Given the description of an element on the screen output the (x, y) to click on. 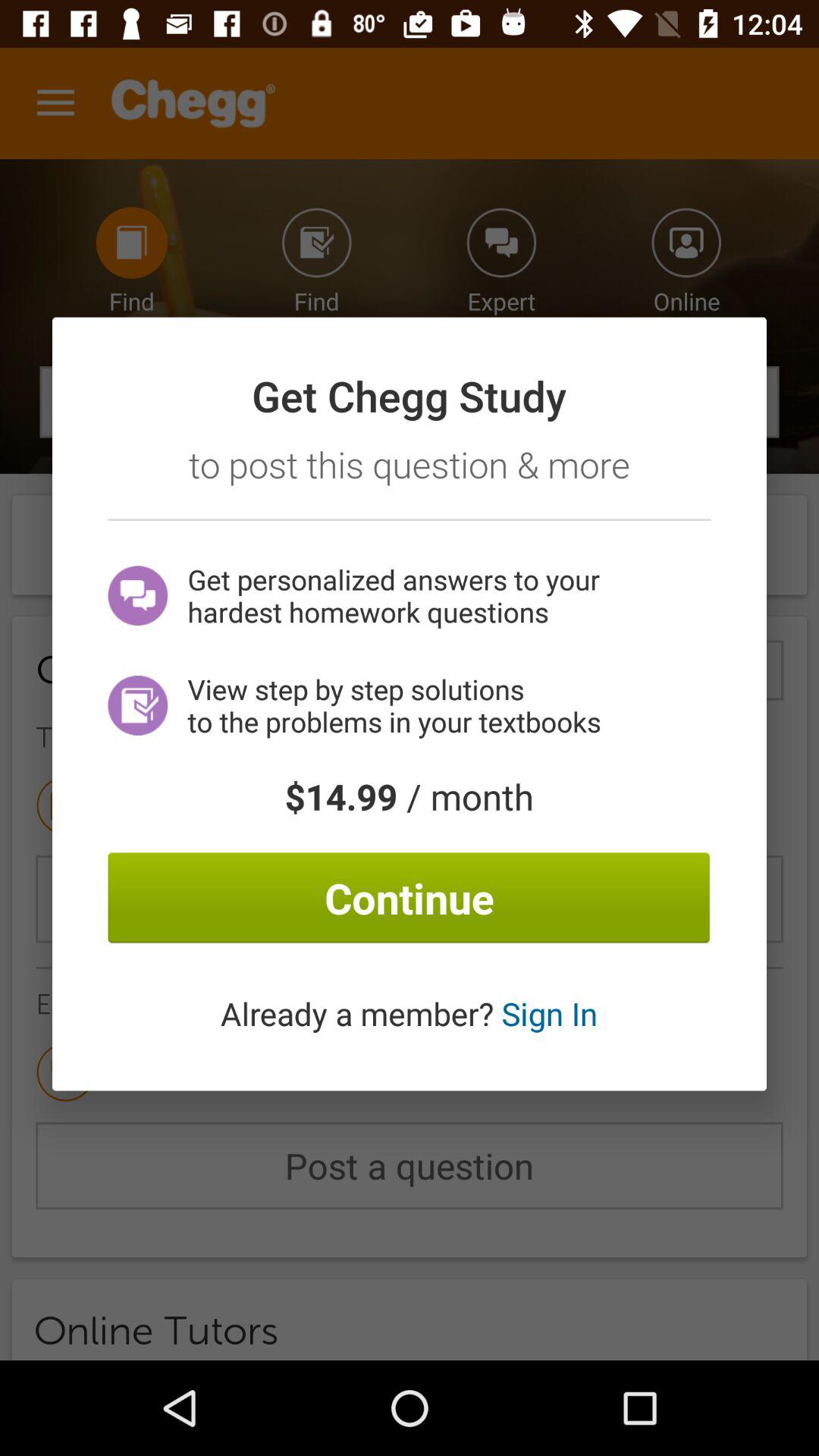
select already a member (408, 1013)
